Given the description of an element on the screen output the (x, y) to click on. 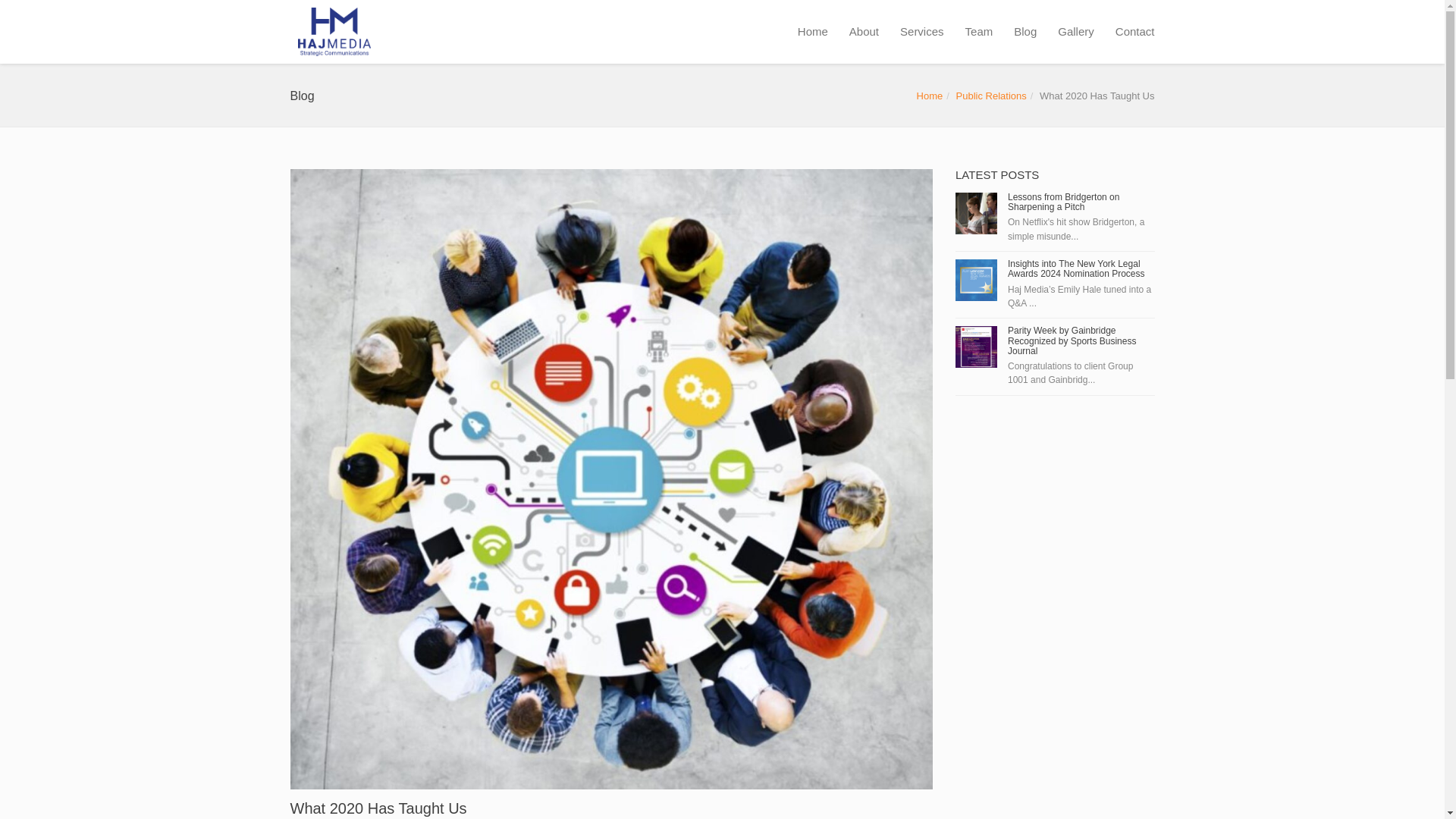
Services (922, 31)
Gallery (1075, 31)
Home (930, 95)
Public Relations (991, 95)
Lessons from Bridgerton on Sharpening a Pitch (1063, 201)
